Given the description of an element on the screen output the (x, y) to click on. 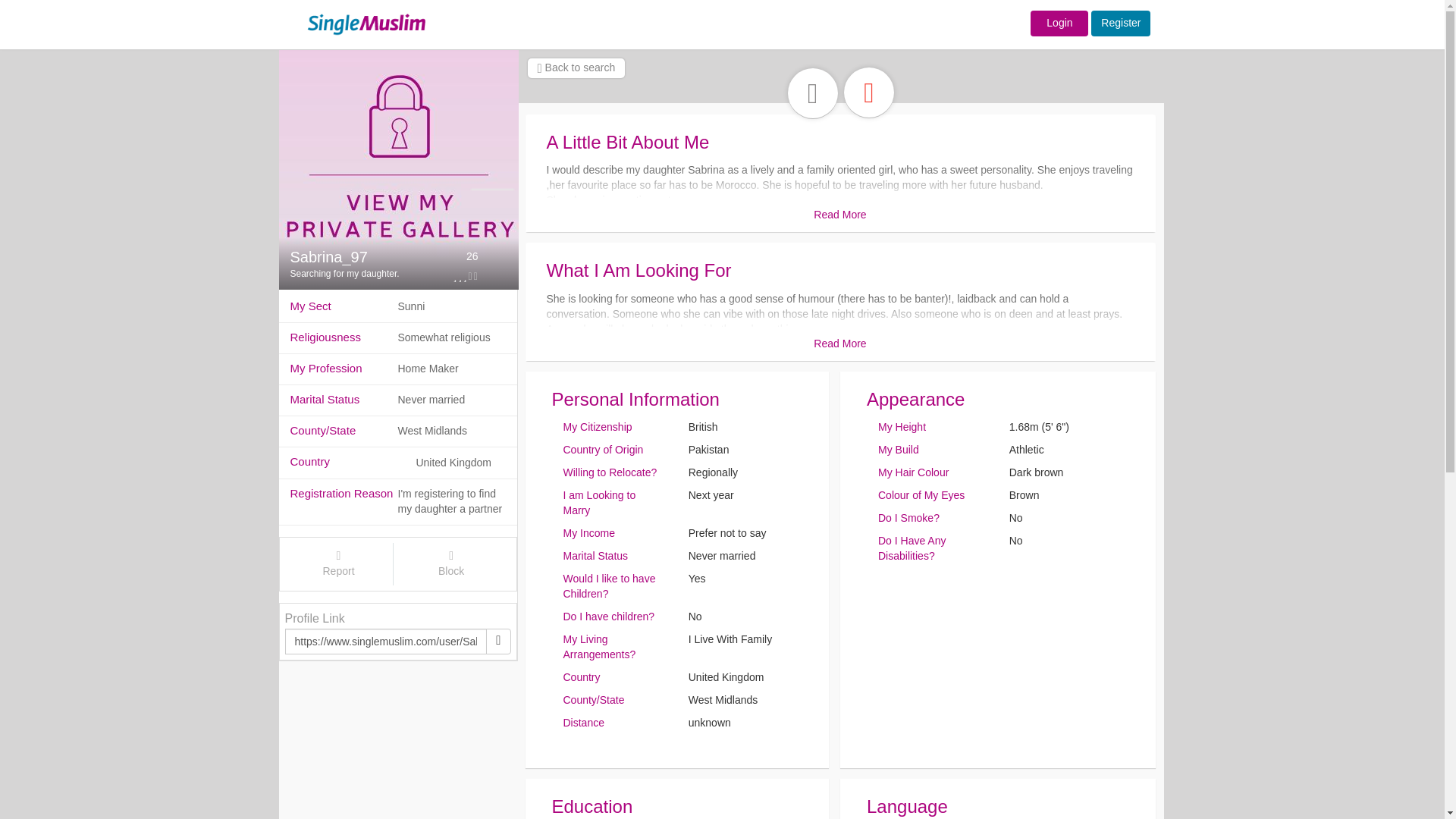
Report (339, 563)
Block (451, 563)
Register (1120, 23)
Login (1058, 23)
You are required to login to add favourites (869, 89)
Profile Link (315, 617)
Back to search (575, 67)
